Given the description of an element on the screen output the (x, y) to click on. 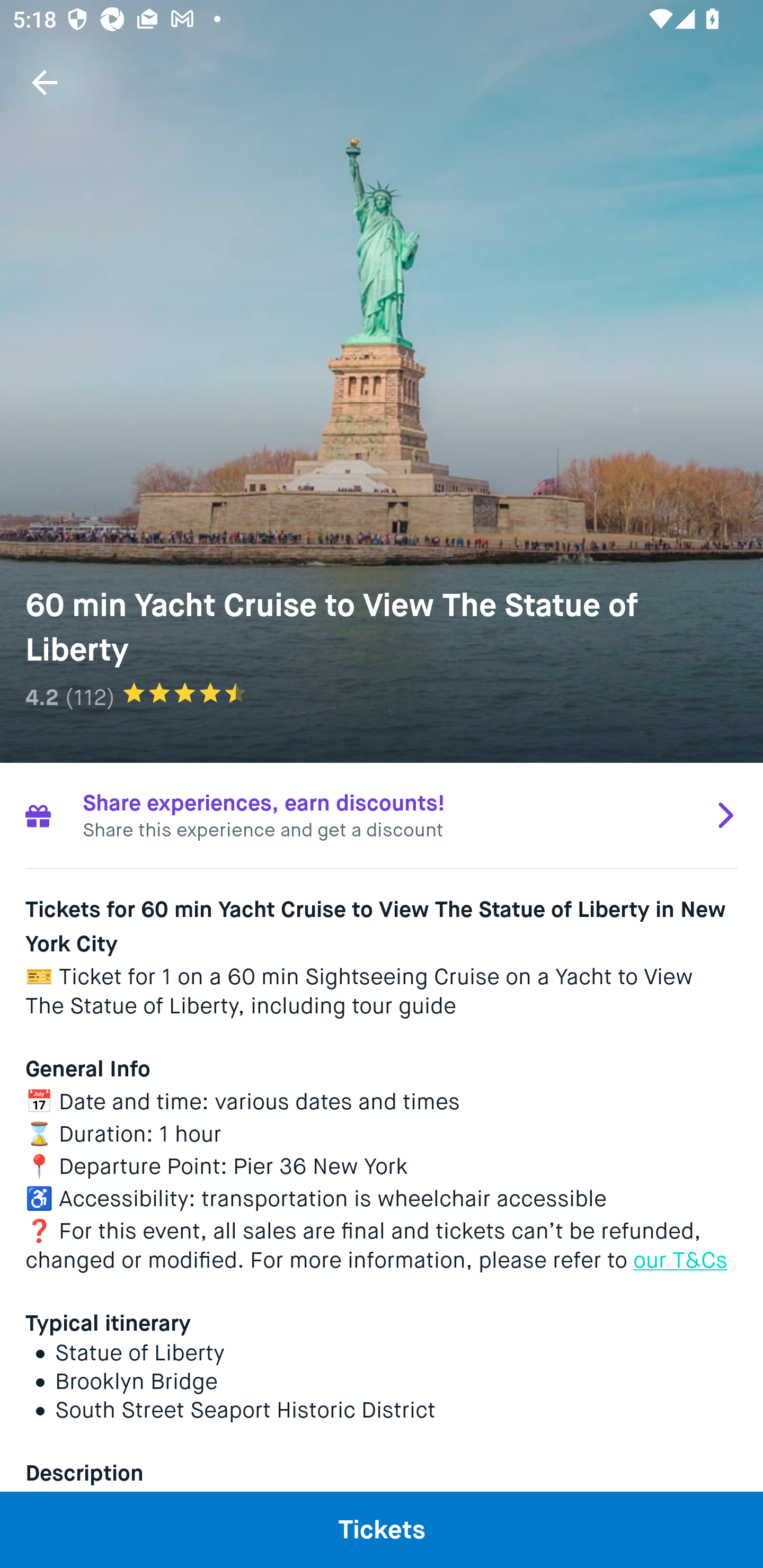
Navigate up (44, 82)
(112) (89, 697)
Tickets (381, 1529)
